Given the description of an element on the screen output the (x, y) to click on. 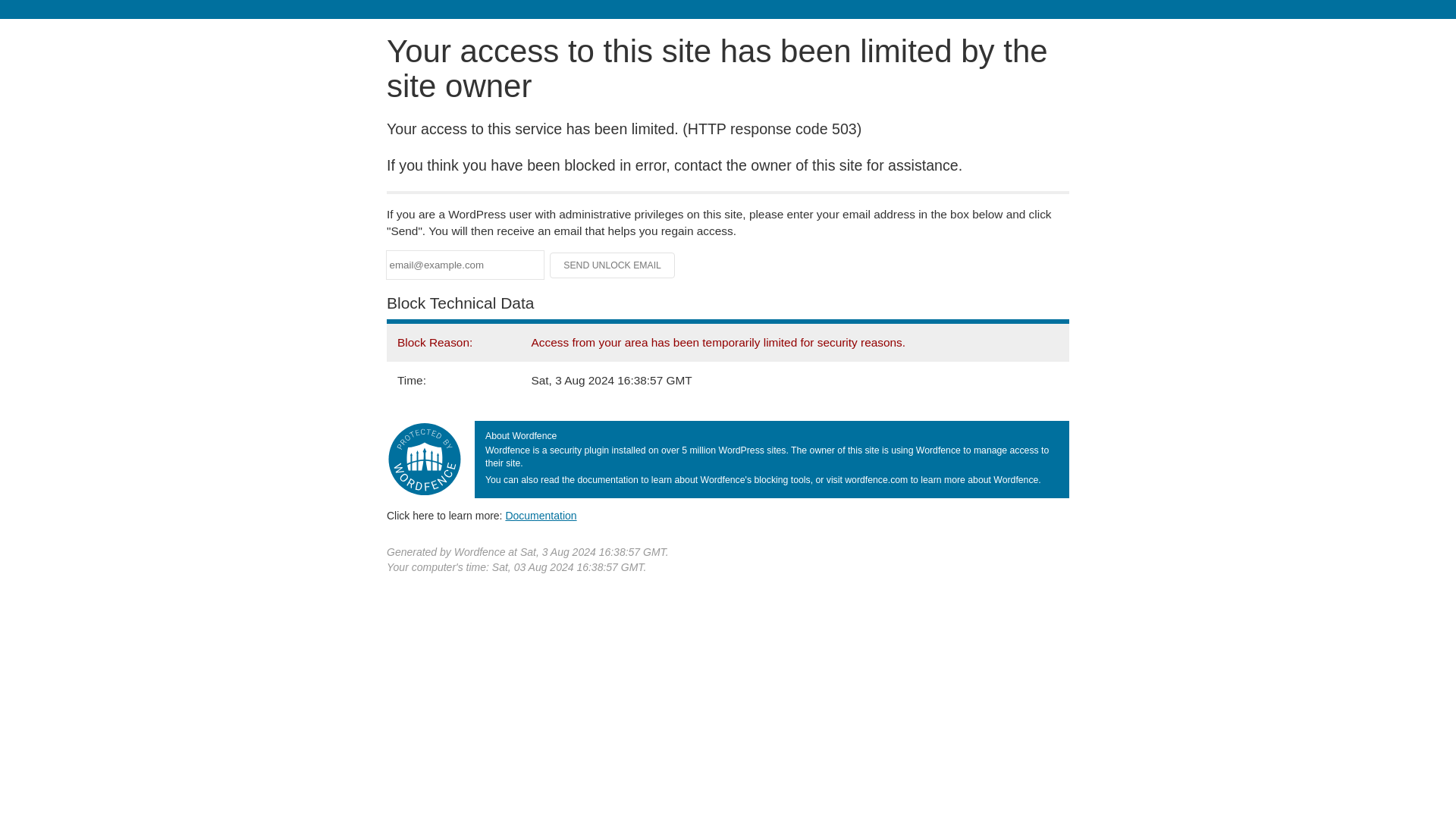
Documentation (540, 515)
Send Unlock Email (612, 265)
Send Unlock Email (612, 265)
